Given the description of an element on the screen output the (x, y) to click on. 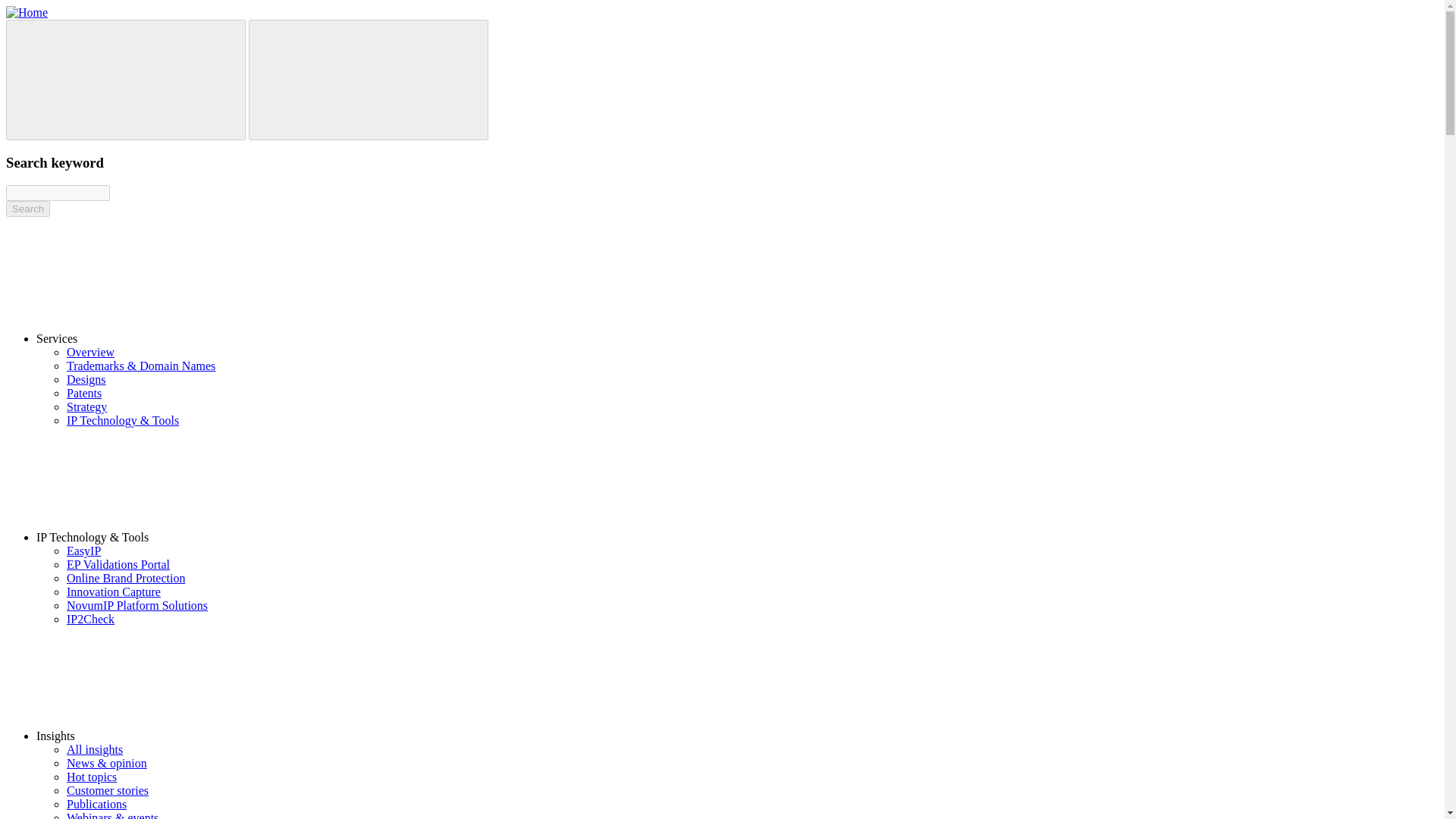
EP Validations Portal (118, 563)
Search (27, 208)
Strategy (86, 406)
Online Brand Protection (125, 577)
NovumIP Platform Solutions (137, 604)
Designs (86, 379)
Insights (170, 735)
Publications (96, 803)
Search (27, 208)
Customer stories (107, 789)
